Given the description of an element on the screen output the (x, y) to click on. 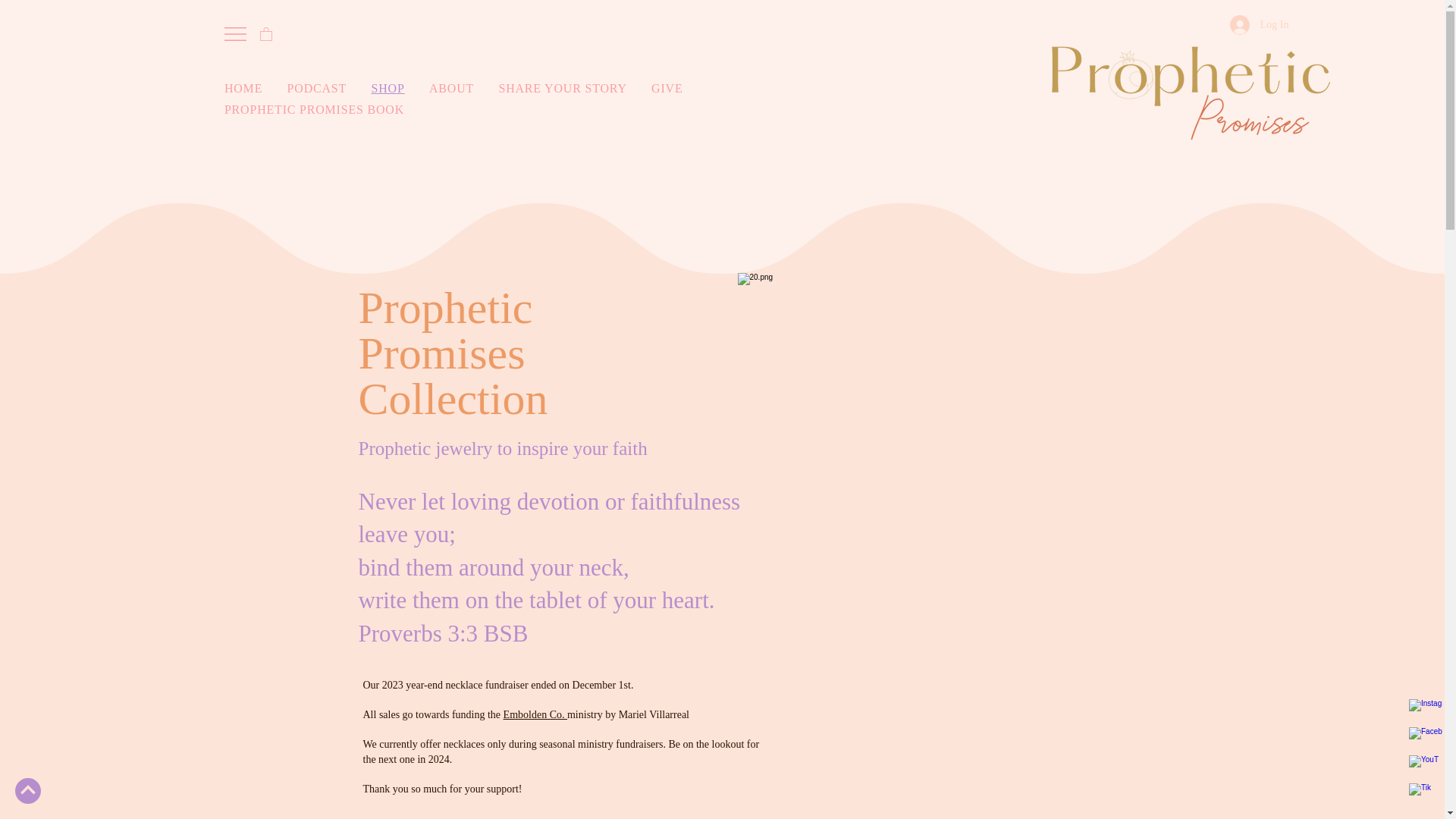
HOME (251, 88)
PODCAST (325, 88)
GIVE (675, 88)
Log In (1260, 24)
SHARE YOUR STORY (570, 88)
ABOUT (459, 88)
PROPHETIC PROMISES BOOK (462, 110)
SHOP (395, 88)
Embolden Co. (535, 714)
